Given the description of an element on the screen output the (x, y) to click on. 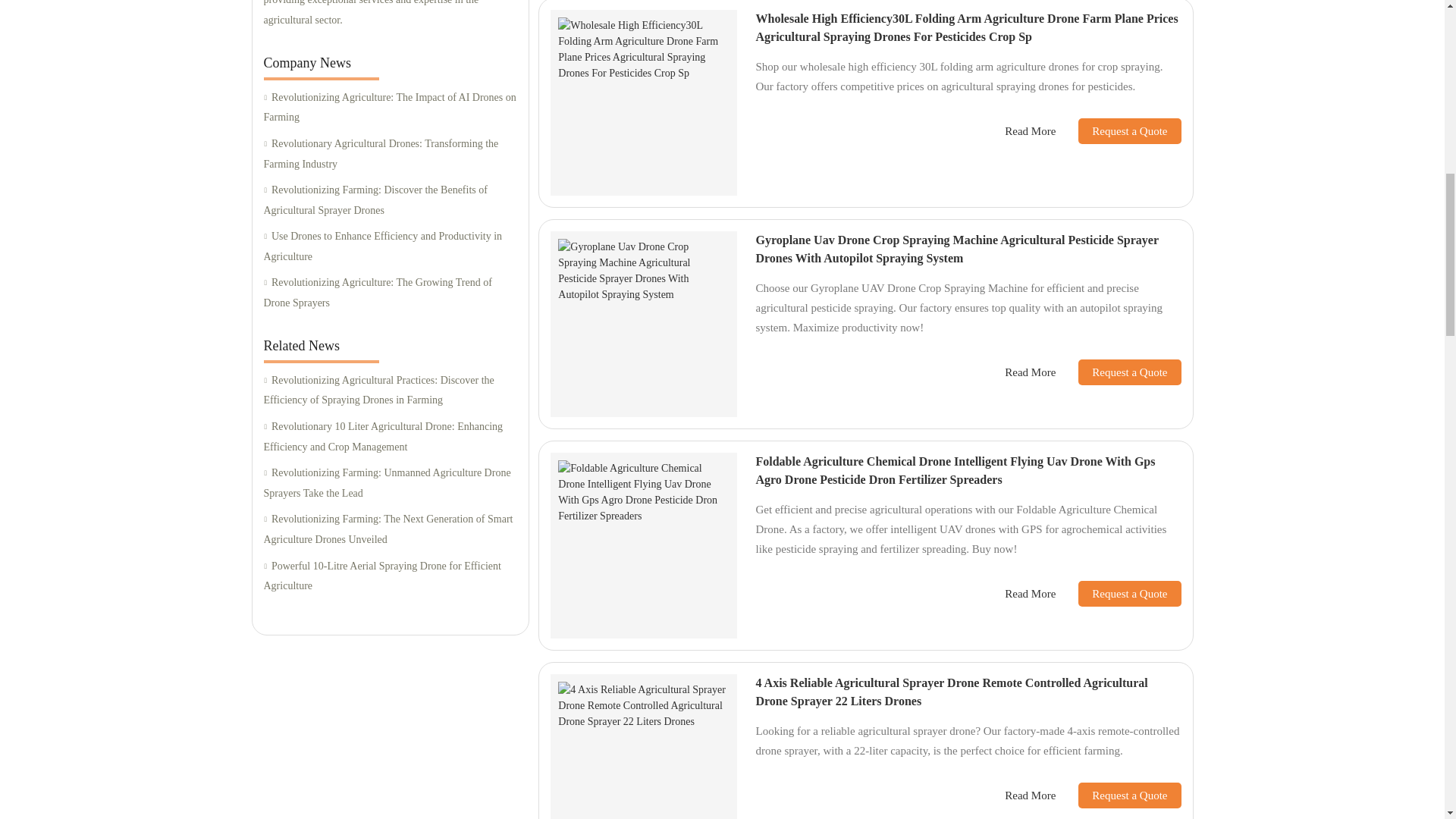
Read More (1029, 131)
Request a Quote (1117, 130)
